Given the description of an element on the screen output the (x, y) to click on. 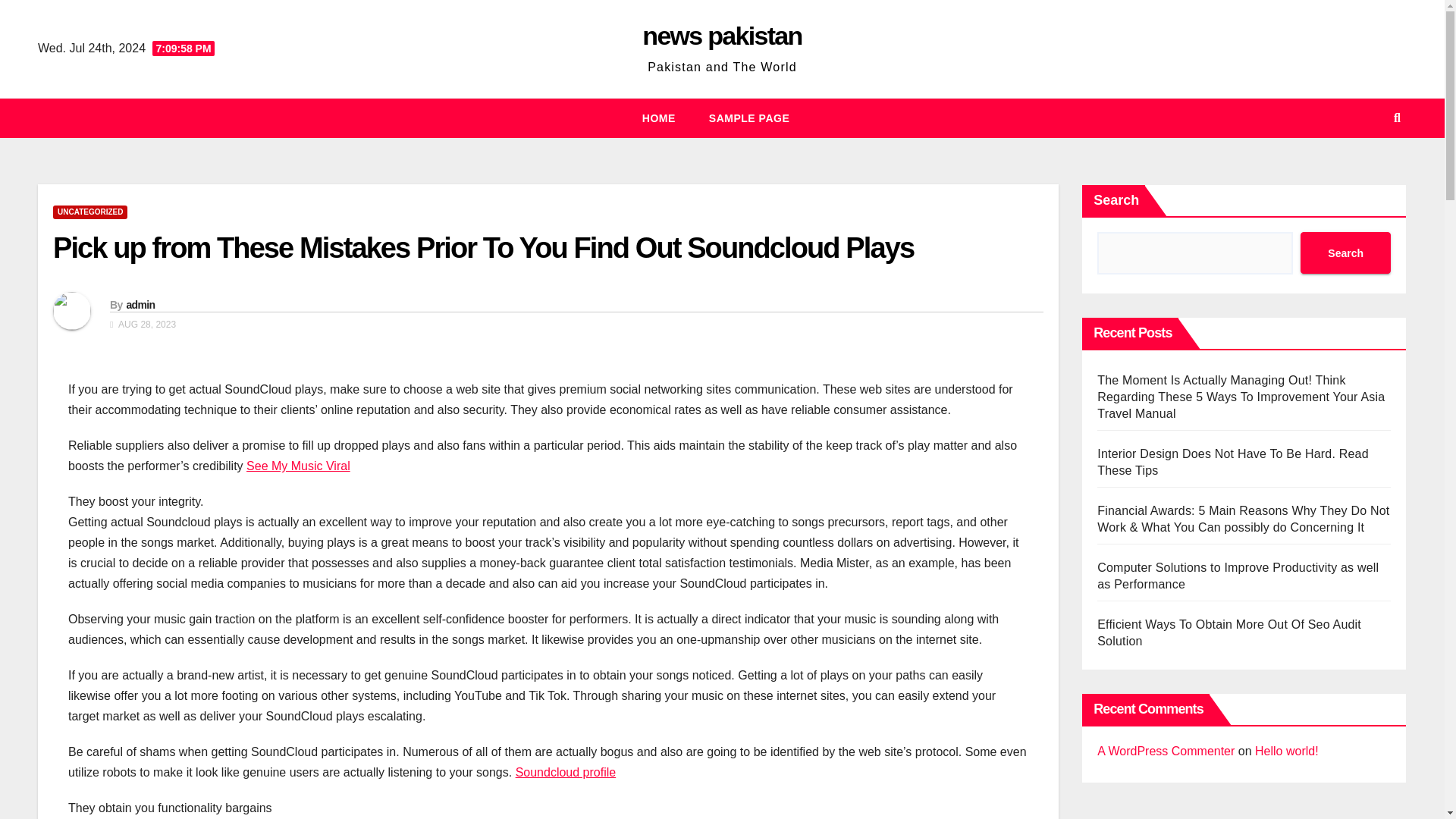
HOME (659, 118)
SAMPLE PAGE (749, 118)
admin (139, 304)
Home (659, 118)
UNCATEGORIZED (90, 212)
Soundcloud profile (565, 771)
Search (1345, 252)
See My Music Viral (298, 465)
news pakistan (722, 35)
